Given the description of an element on the screen output the (x, y) to click on. 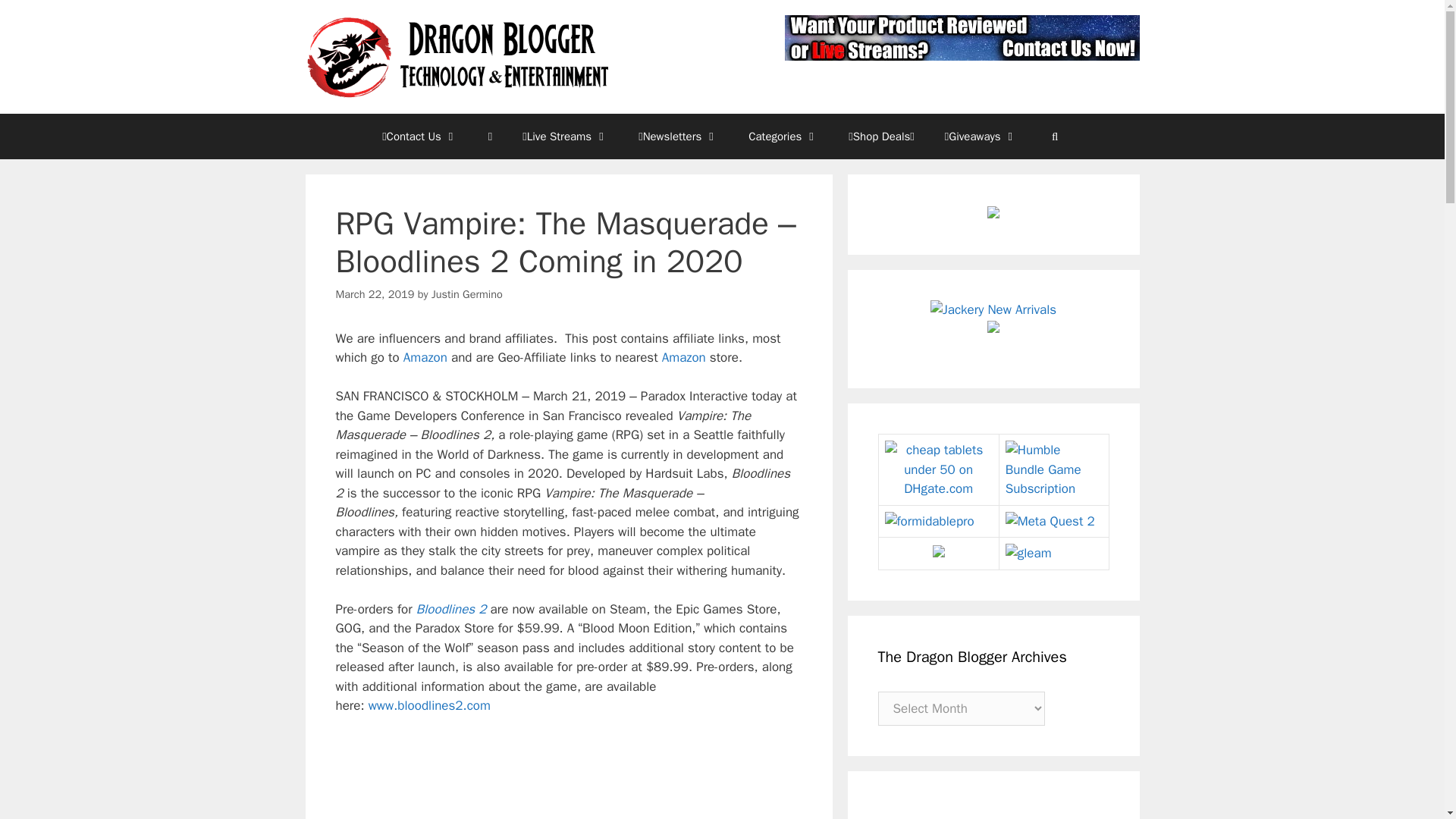
Amazon Homepage (424, 357)
Categories (782, 135)
View all posts by Justin Germino (466, 294)
Amazon Homepage (684, 357)
